Given the description of an element on the screen output the (x, y) to click on. 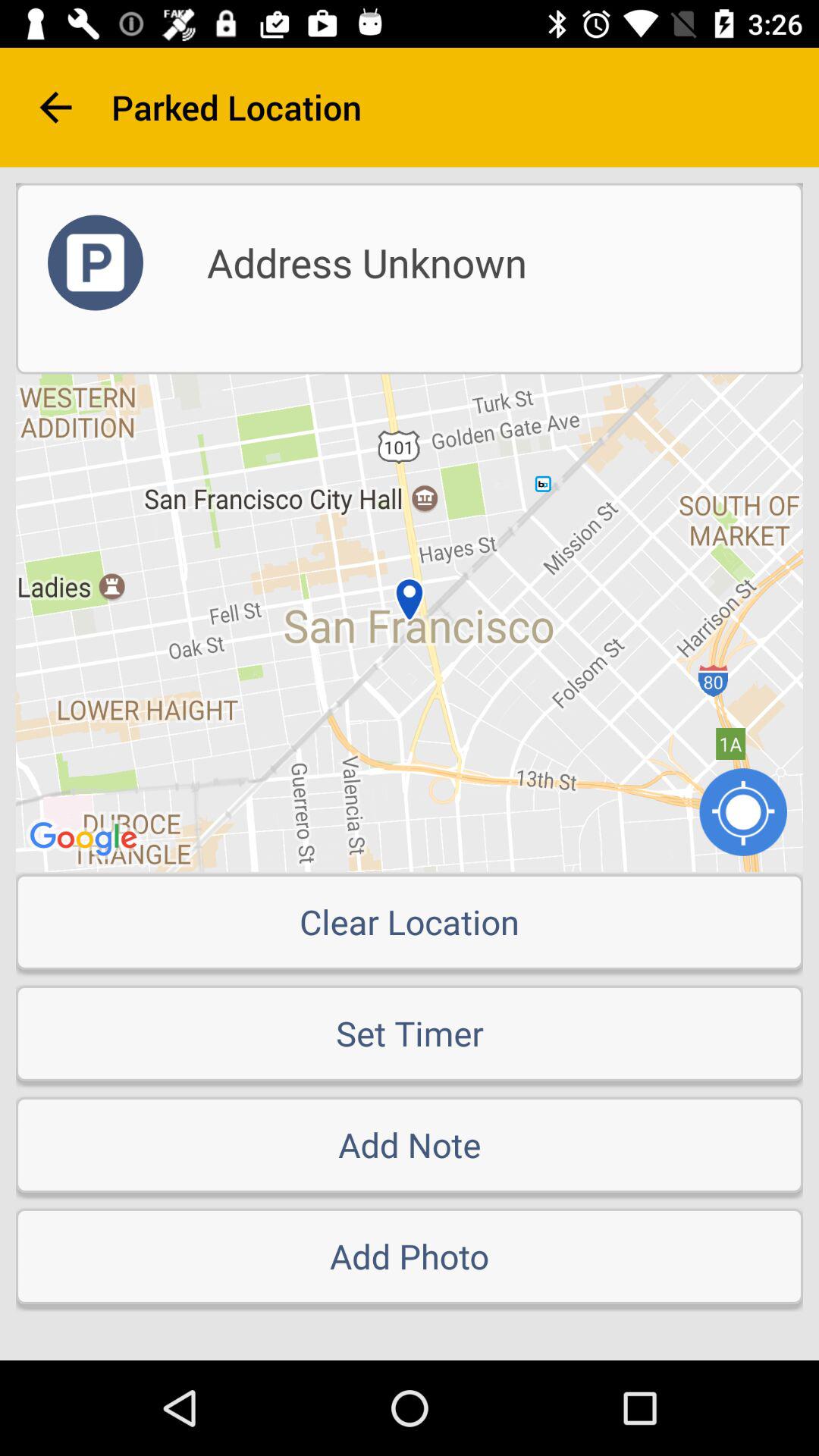
select clear location (409, 922)
click the add note option (409, 1144)
select the google (85, 839)
click on current location icon (743, 812)
select the parking icon left to address unknown (95, 263)
